Given the description of an element on the screen output the (x, y) to click on. 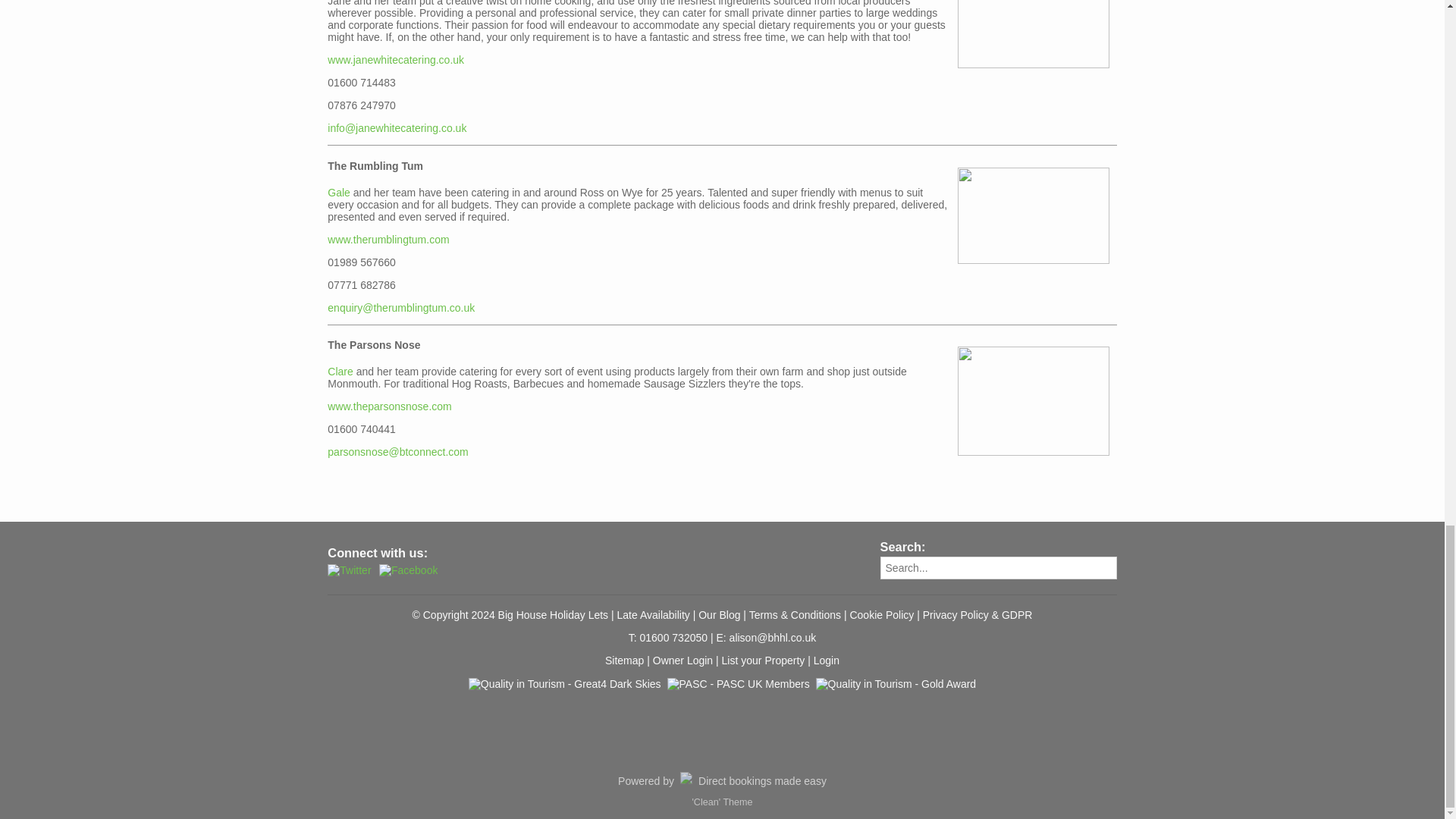
Quality in Tourism - Great4 Dark Skies (564, 719)
PASC - PASC UK Members (737, 719)
Quality in Tourism - Gold Award (895, 719)
StayTech: Holiday Property Website Design (721, 780)
